Given the description of an element on the screen output the (x, y) to click on. 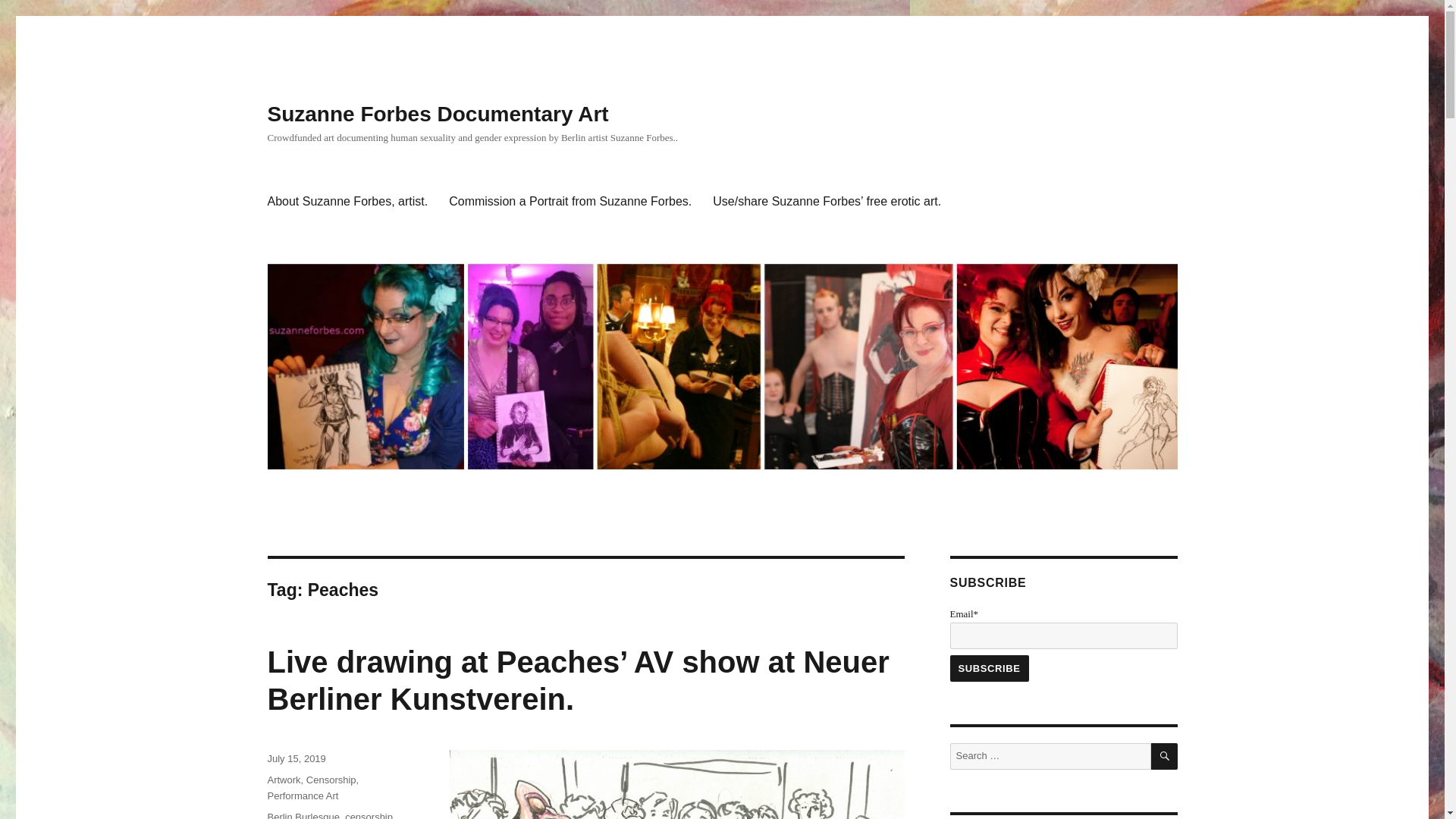
Censorship (330, 779)
Subscribe (988, 668)
censorship (369, 815)
Commission a Portrait from Suzanne Forbes. (569, 201)
July 15, 2019 (295, 758)
About Suzanne Forbes, artist. (347, 201)
Performance Art (301, 795)
Artwork (282, 779)
Berlin Burlesque (302, 815)
Suzanne Forbes Documentary Art (437, 114)
